Given the description of an element on the screen output the (x, y) to click on. 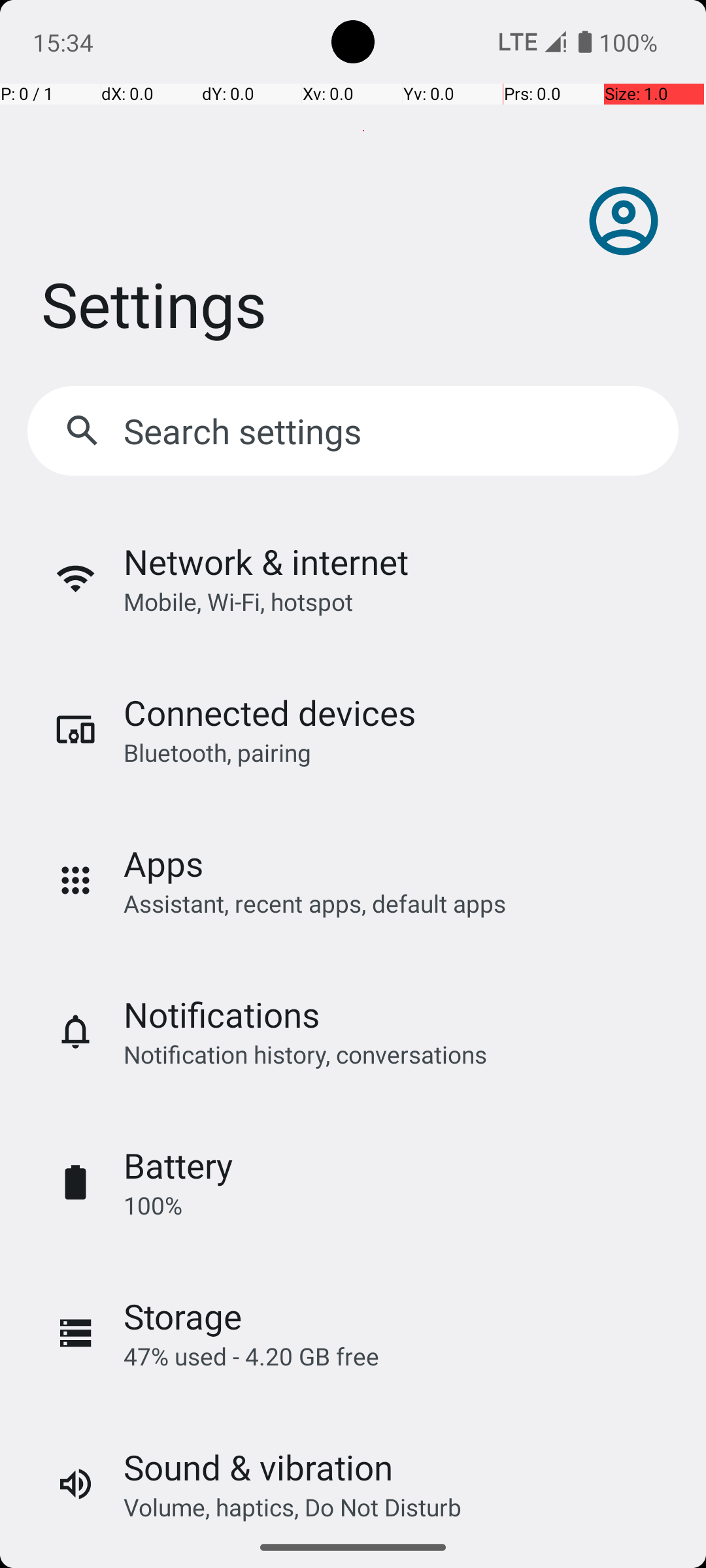
47% used - 4.20 GB free Element type: android.widget.TextView (251, 1355)
